Given the description of an element on the screen output the (x, y) to click on. 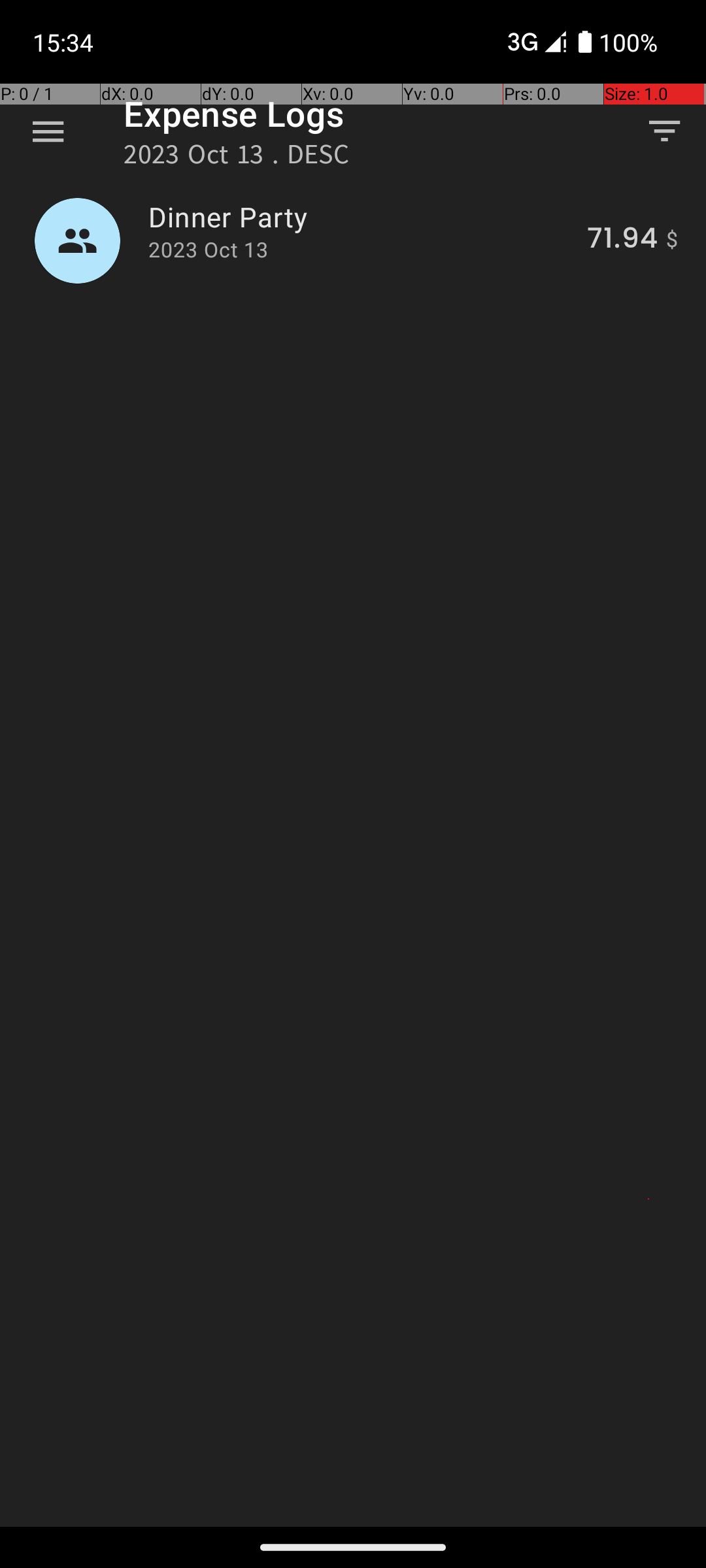
2023 Oct 13 . DESC Element type: android.widget.TextView (236, 157)
Filter Element type: android.widget.TextView (664, 131)
Dinner Party Element type: android.widget.TextView (359, 216)
71.94 Element type: android.widget.TextView (622, 240)
$ Element type: android.widget.TextView (671, 240)
